Given the description of an element on the screen output the (x, y) to click on. 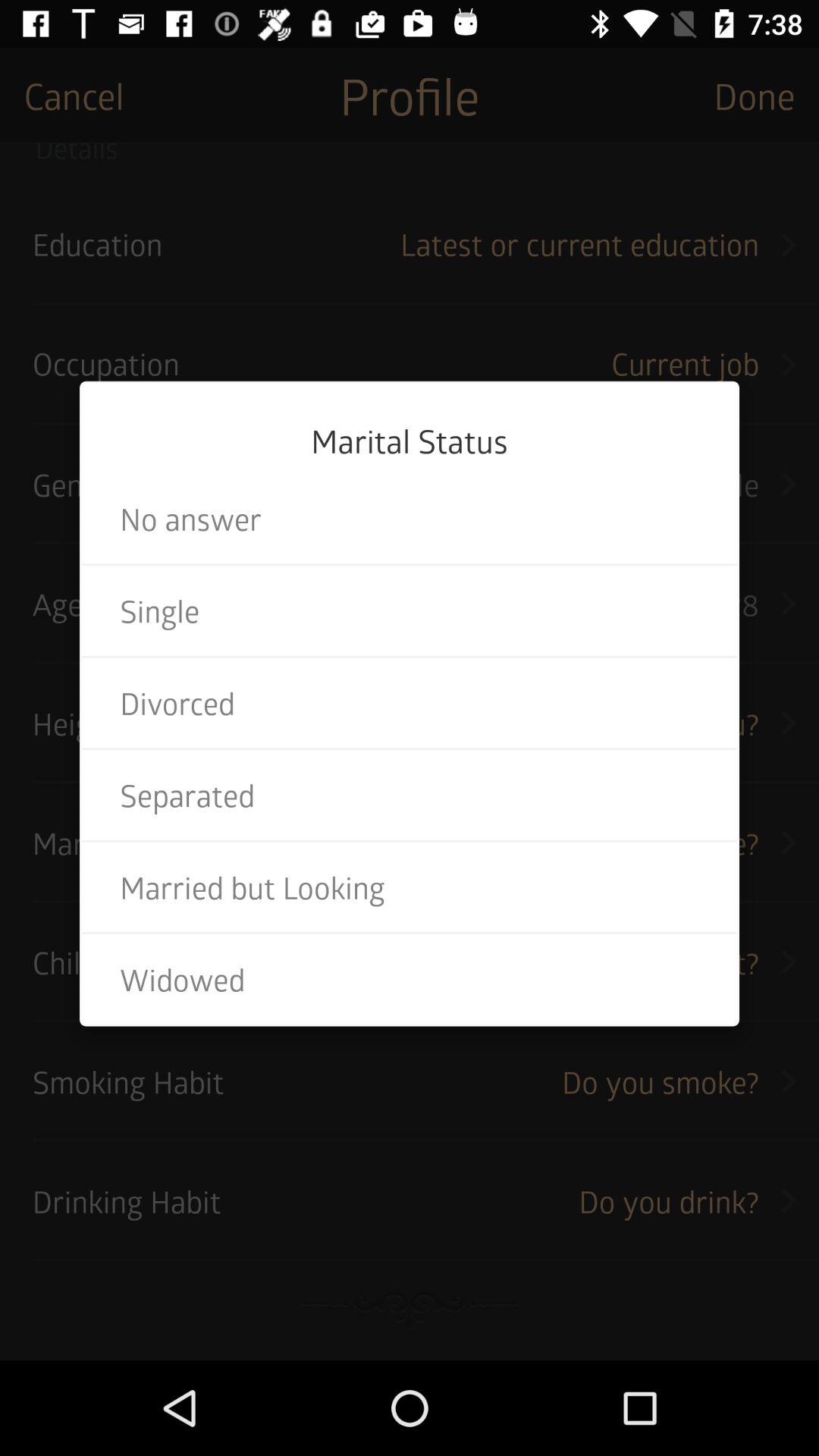
turn on icon above the separated (409, 702)
